Given the description of an element on the screen output the (x, y) to click on. 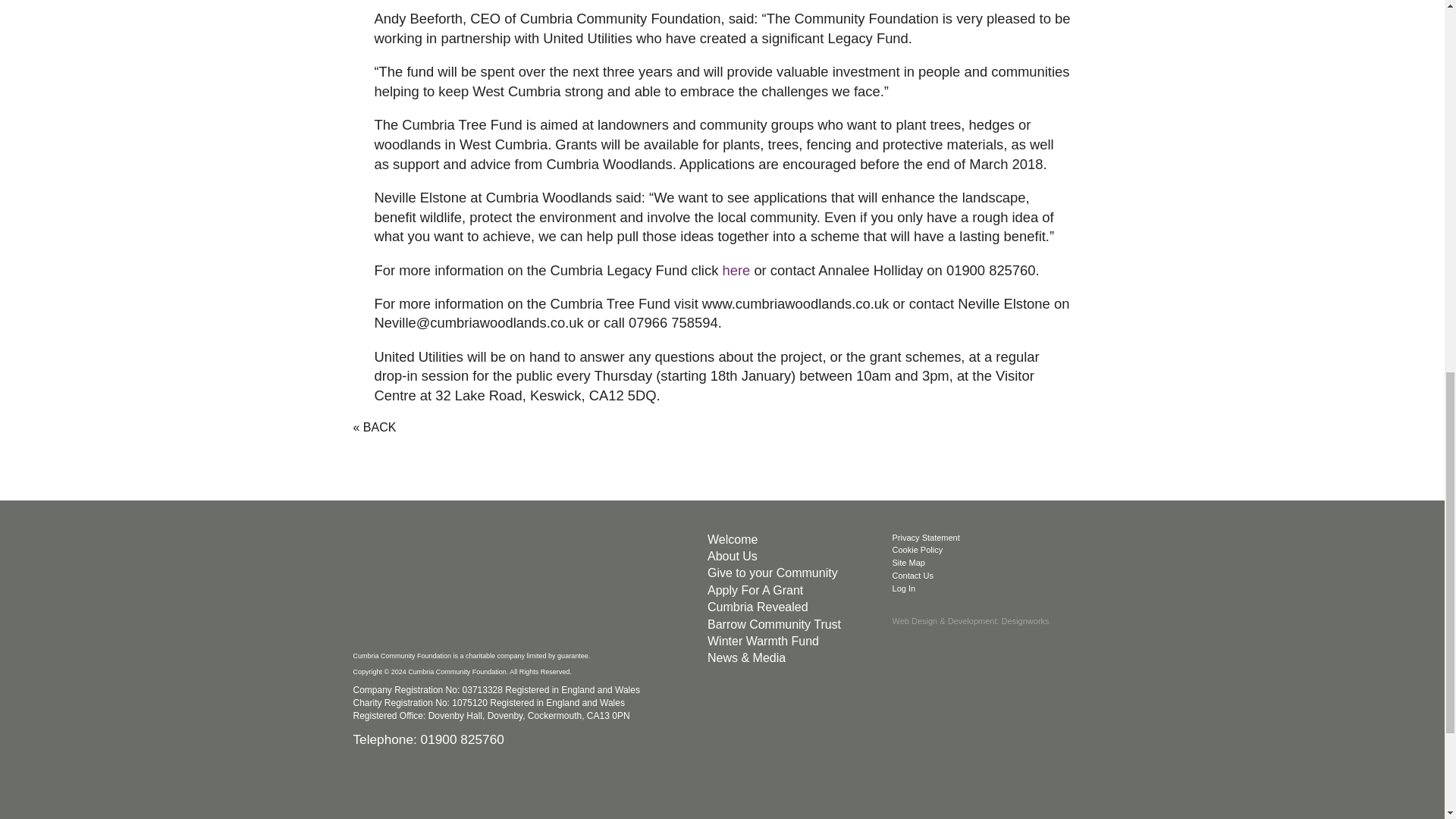
UK Community Foundations Member (466, 796)
FR-Fundraising-Badge-Mono-HR (720, 796)
ccf-logo (466, 587)
